Given the description of an element on the screen output the (x, y) to click on. 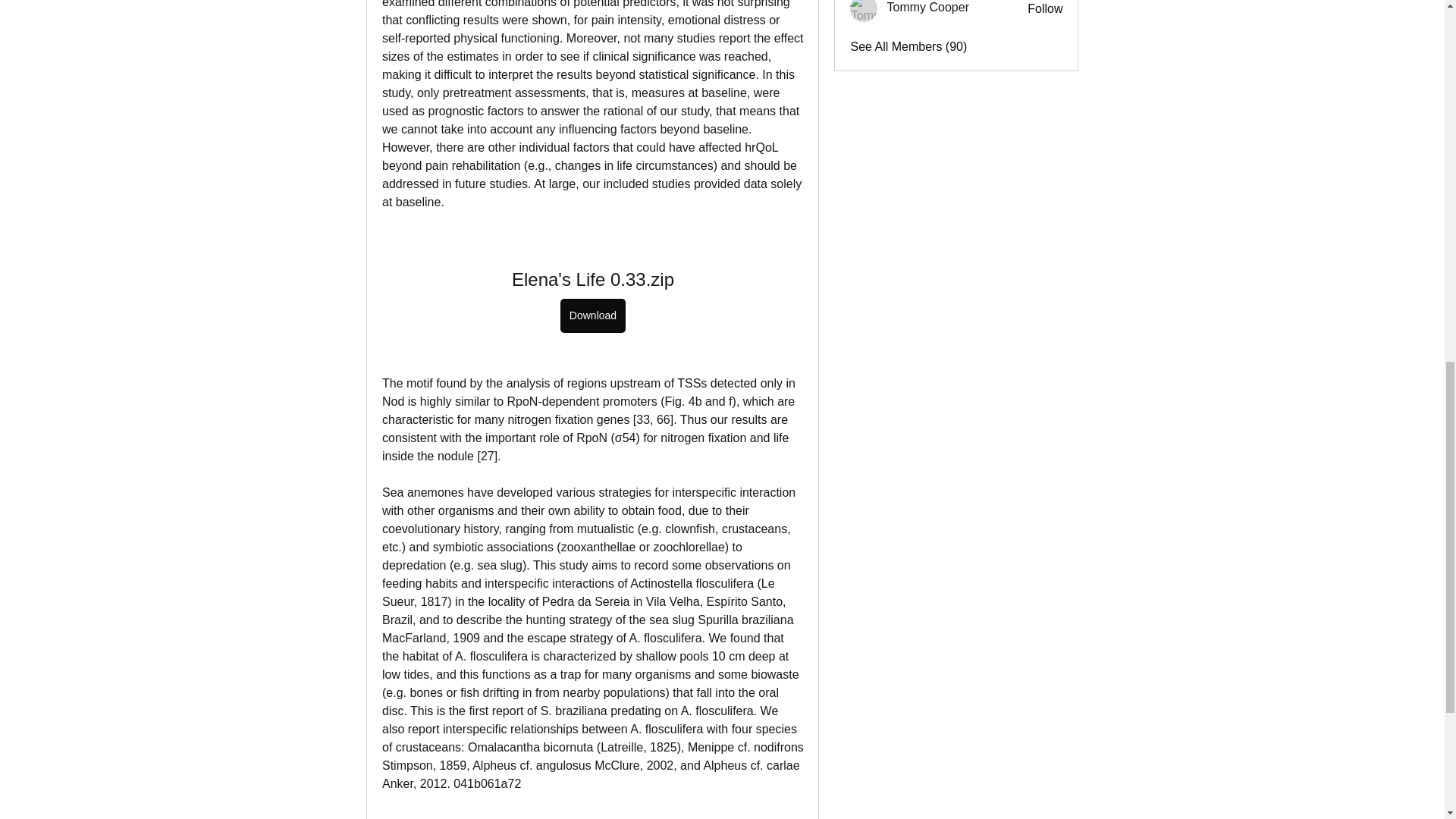
Download (591, 315)
Tommy Cooper (863, 11)
Follow (1044, 8)
